Given the description of an element on the screen output the (x, y) to click on. 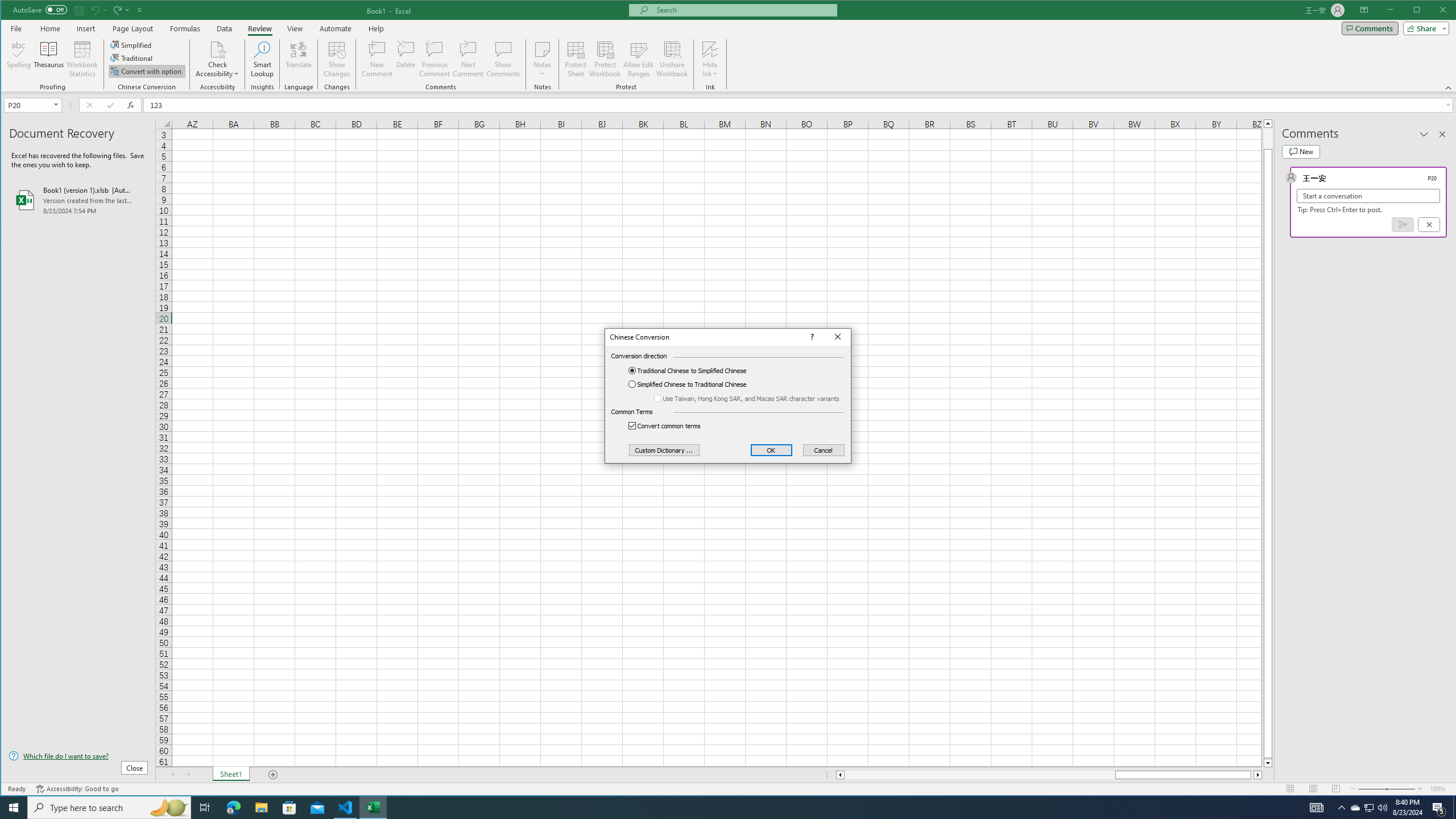
Spelling... (18, 59)
Convert common terms (670, 425)
OK (771, 450)
Excel - 1 running window (373, 807)
Protect Sheet... (575, 59)
